Given the description of an element on the screen output the (x, y) to click on. 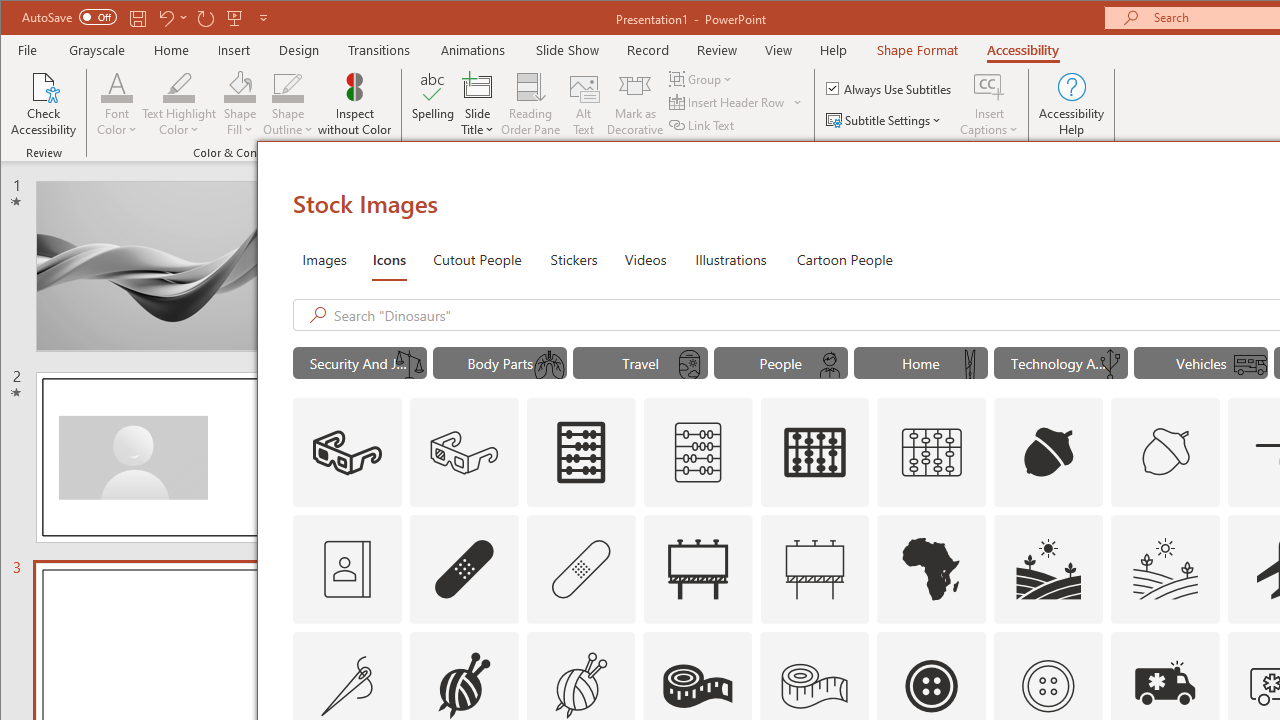
Videos (645, 258)
AutomationID: Icons_Plug_M (1109, 365)
Shape Outline Blue, Accent 1 (288, 86)
"Home" Icons. (920, 362)
"People" Icons. (780, 362)
Grayscale (97, 50)
AutomationID: Icons_Rv_M (1249, 365)
"Travel" Icons. (640, 362)
